Given the description of an element on the screen output the (x, y) to click on. 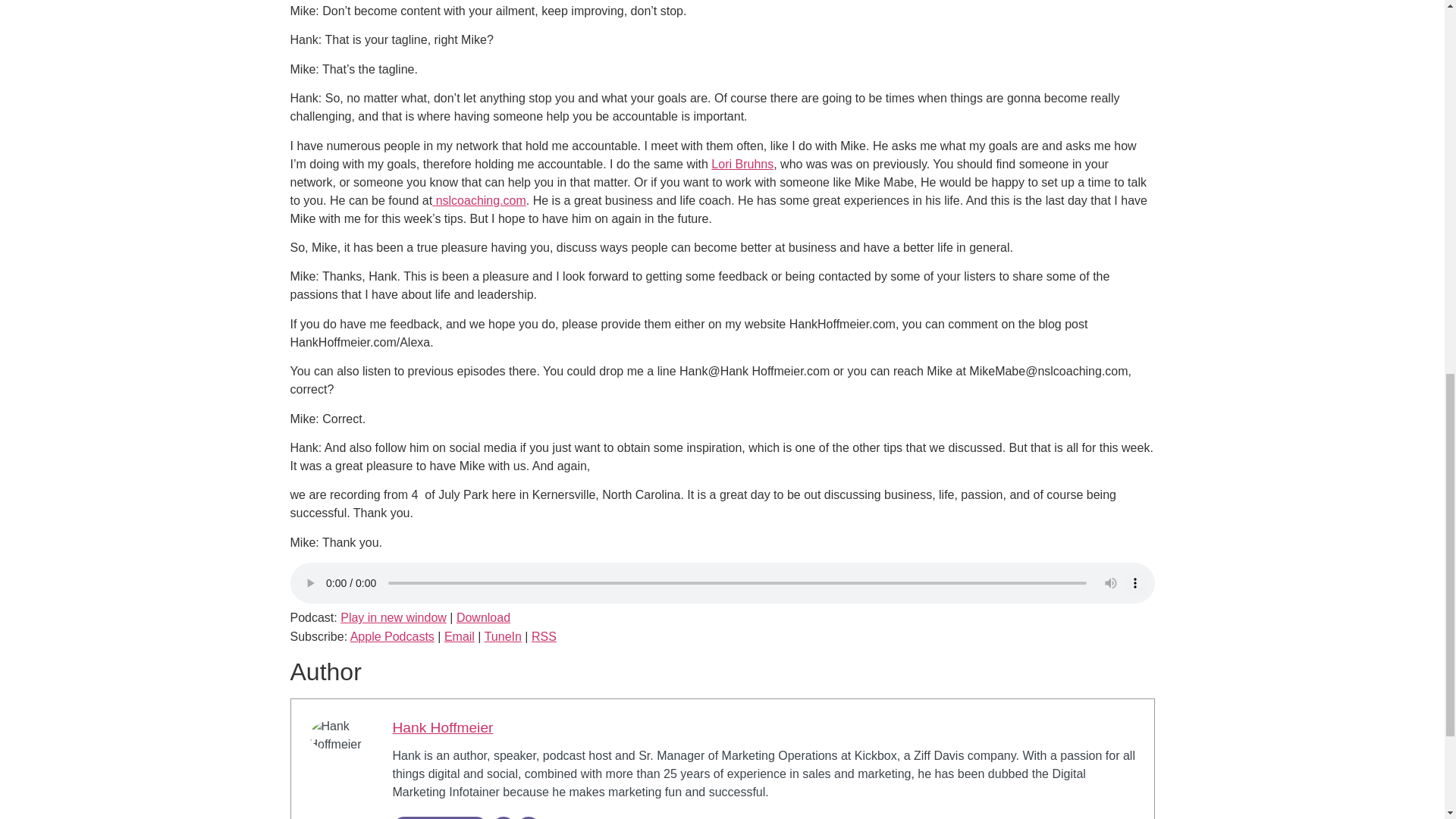
Subscribe by Email (459, 635)
Lori Bruhns (742, 164)
Subscribe via RSS (543, 635)
Email (459, 635)
Play in new window (393, 617)
Apple Podcasts (391, 635)
Subscribe on Apple Podcasts (391, 635)
TuneIn (502, 635)
Hank Hoffmeier (443, 727)
nslcoaching.com (478, 200)
